Given the description of an element on the screen output the (x, y) to click on. 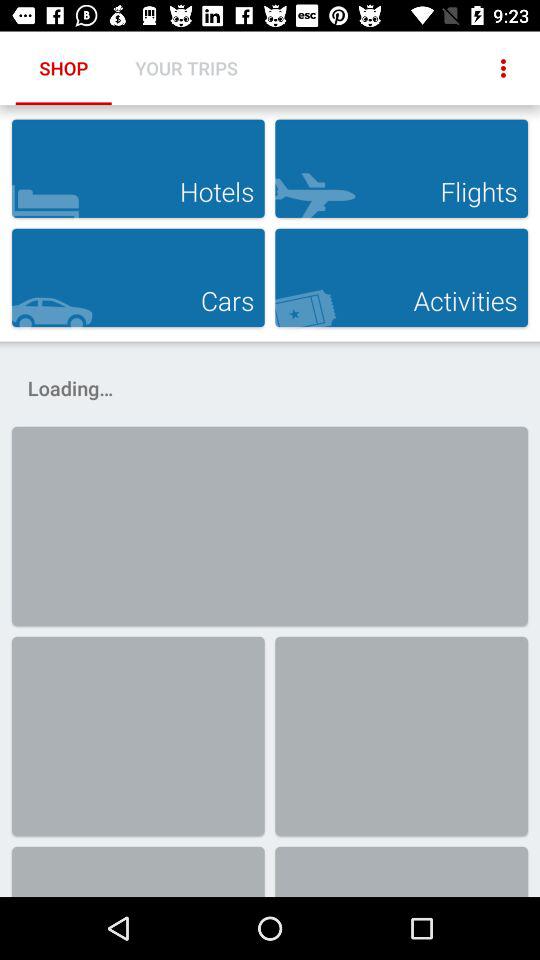
click item next to your trips (503, 68)
